Given the description of an element on the screen output the (x, y) to click on. 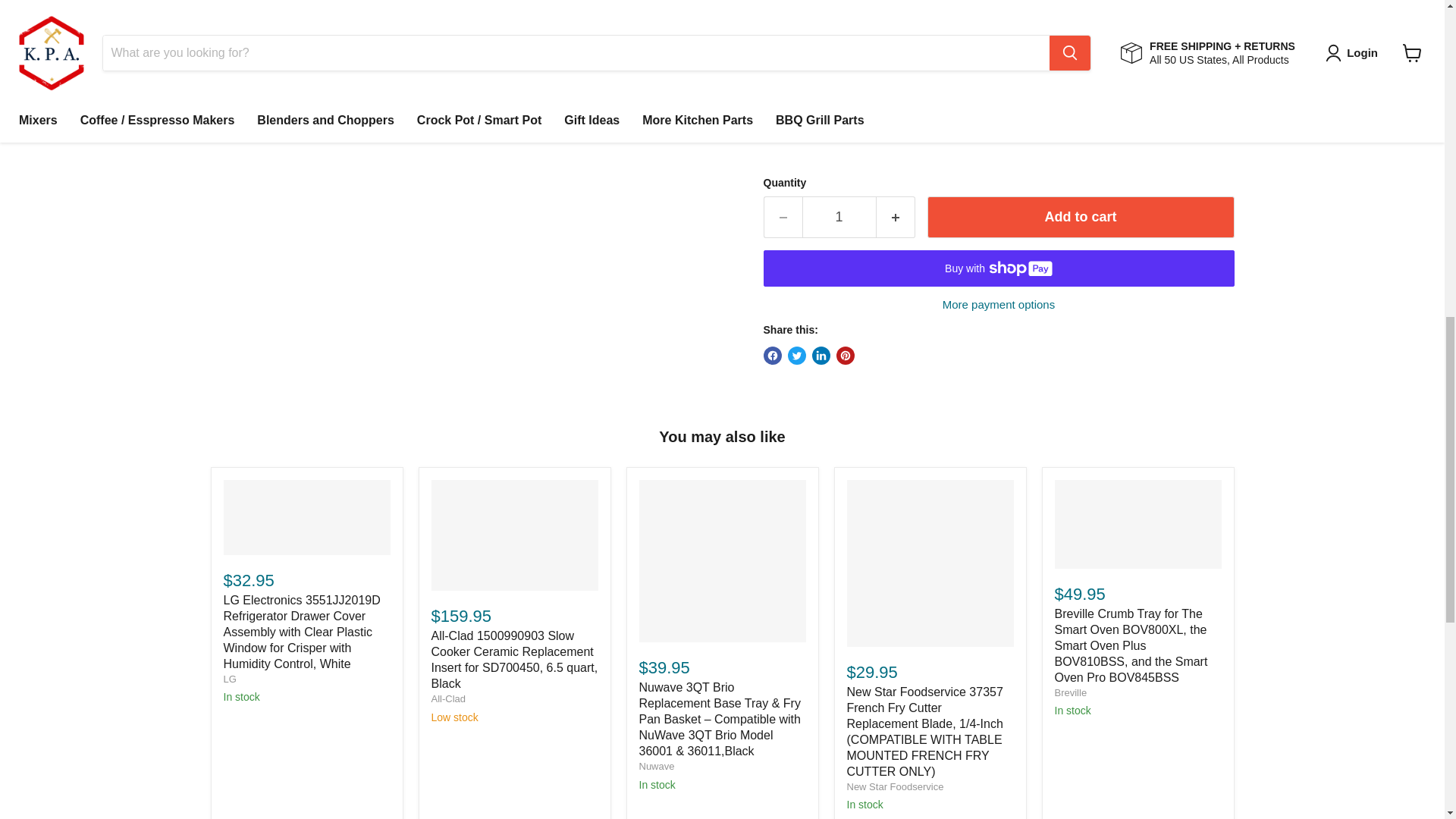
1 (839, 217)
New Star Foodservice (894, 786)
All-Clad (447, 698)
Nuwave (656, 766)
Breville (1070, 692)
LG (228, 678)
